Given the description of an element on the screen output the (x, y) to click on. 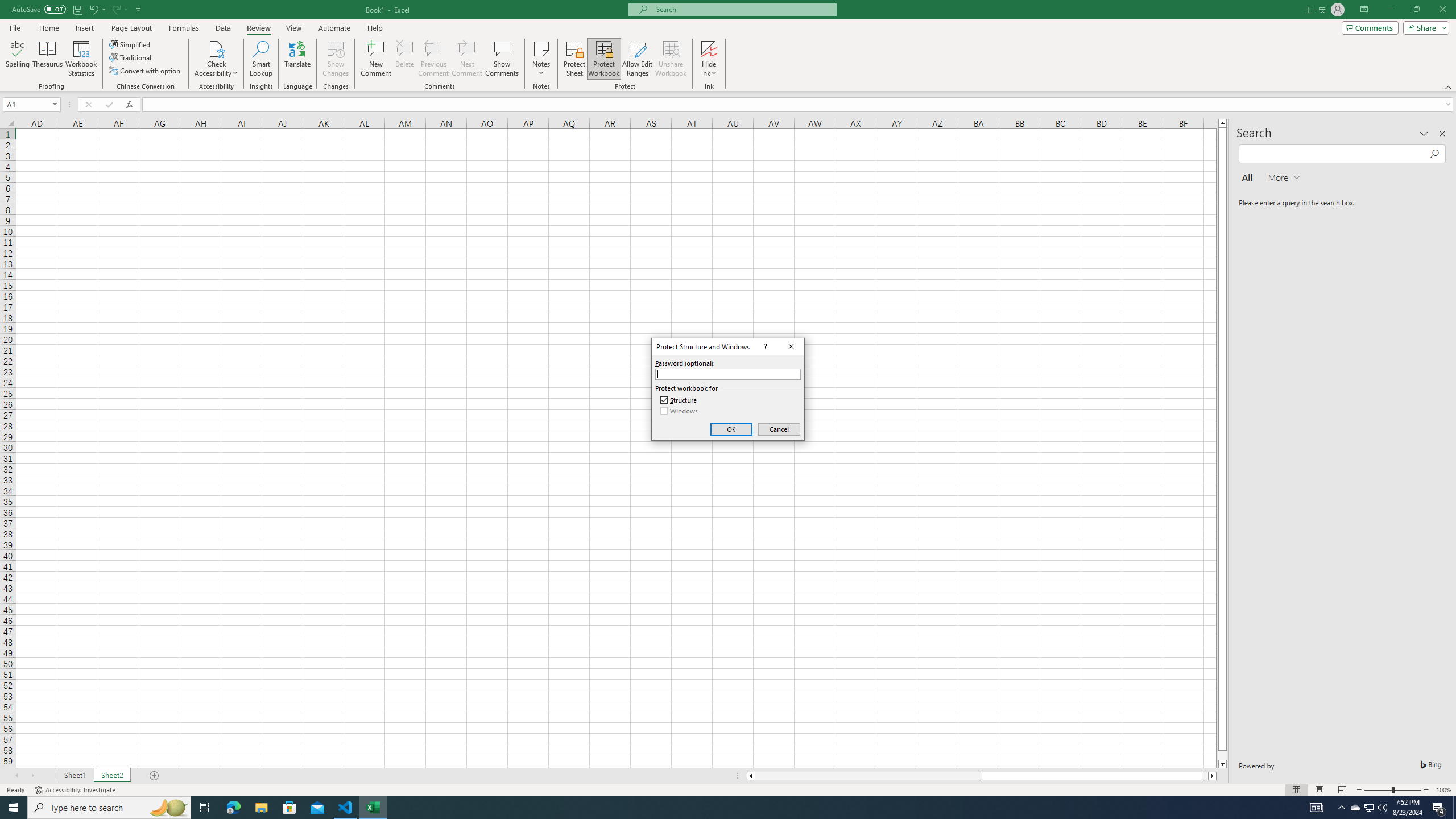
Accessibility Checker Accessibility: Investigate (1355, 807)
Spelling... (76, 790)
Simplified (17, 58)
Page right (130, 44)
